Given the description of an element on the screen output the (x, y) to click on. 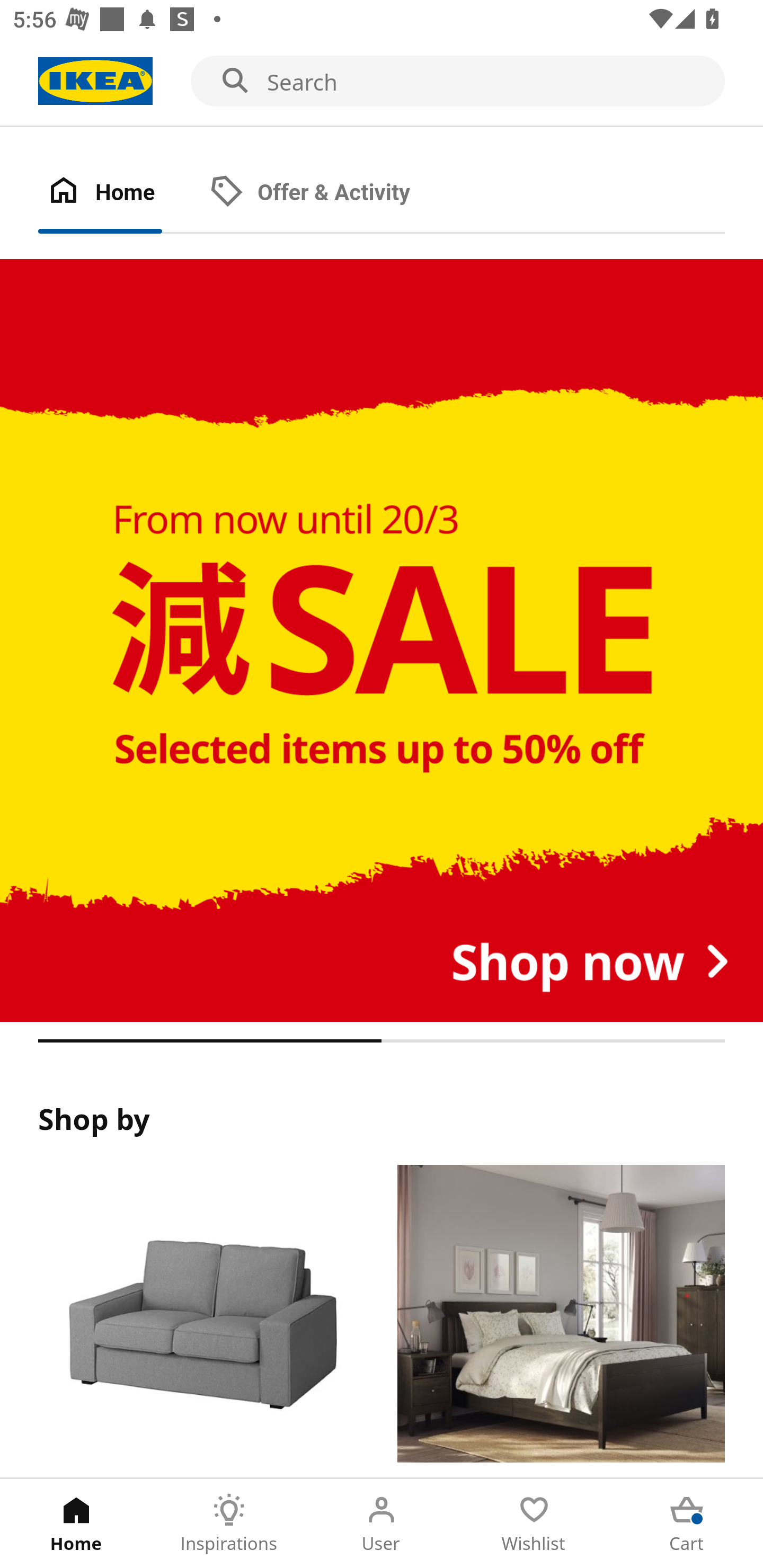
Search (381, 81)
Home
Tab 1 of 2 (118, 192)
Offer & Activity
Tab 2 of 2 (327, 192)
Products (201, 1321)
Rooms (560, 1321)
Home
Tab 1 of 5 (76, 1522)
Inspirations
Tab 2 of 5 (228, 1522)
User
Tab 3 of 5 (381, 1522)
Wishlist
Tab 4 of 5 (533, 1522)
Cart
Tab 5 of 5 (686, 1522)
